Given the description of an element on the screen output the (x, y) to click on. 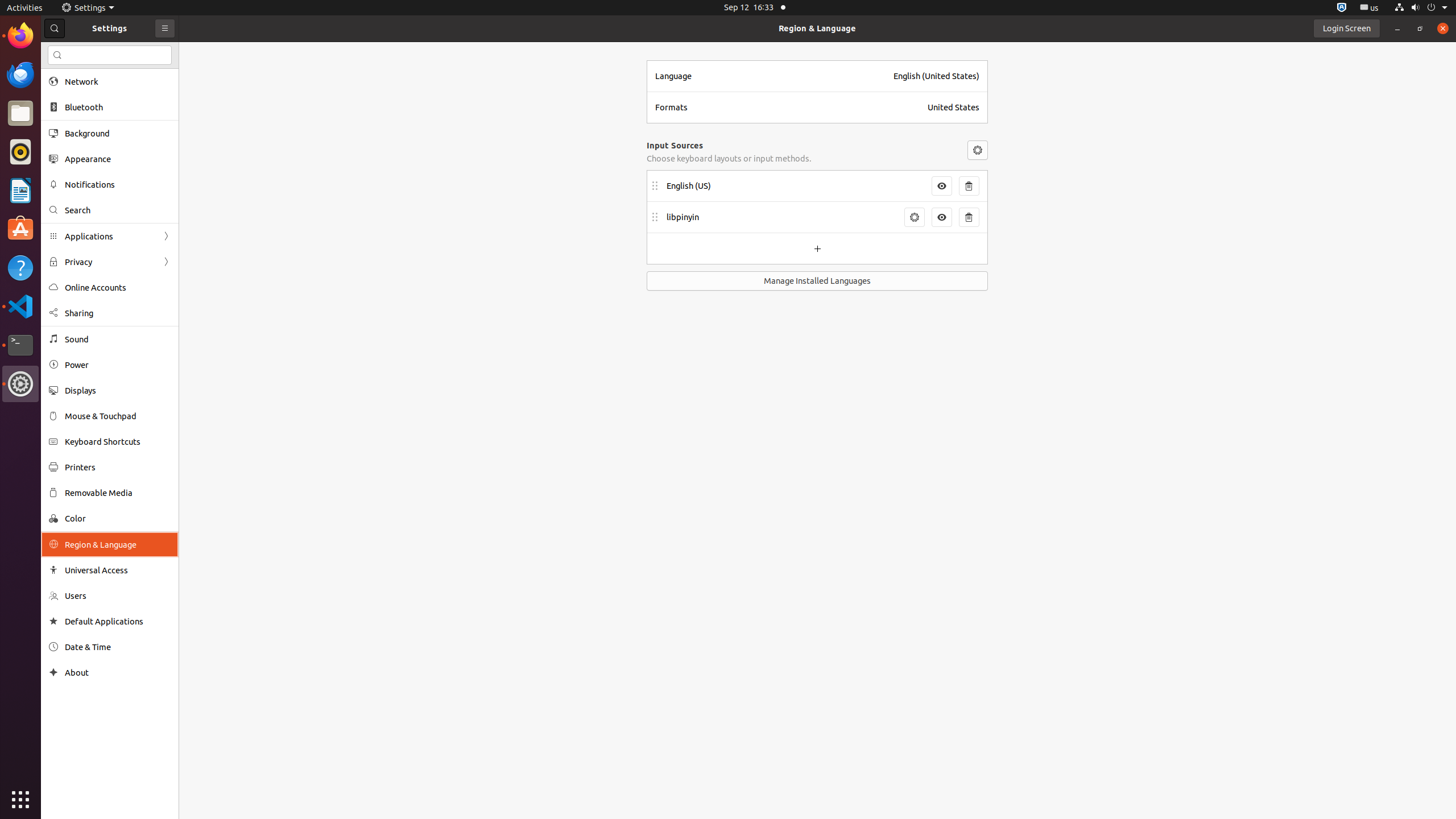
About Element type: label (117, 672)
Color Element type: label (117, 518)
libpinyin Element type: label (781, 216)
Choose keyboard layouts or input methods. Element type: label (728, 158)
